Given the description of an element on the screen output the (x, y) to click on. 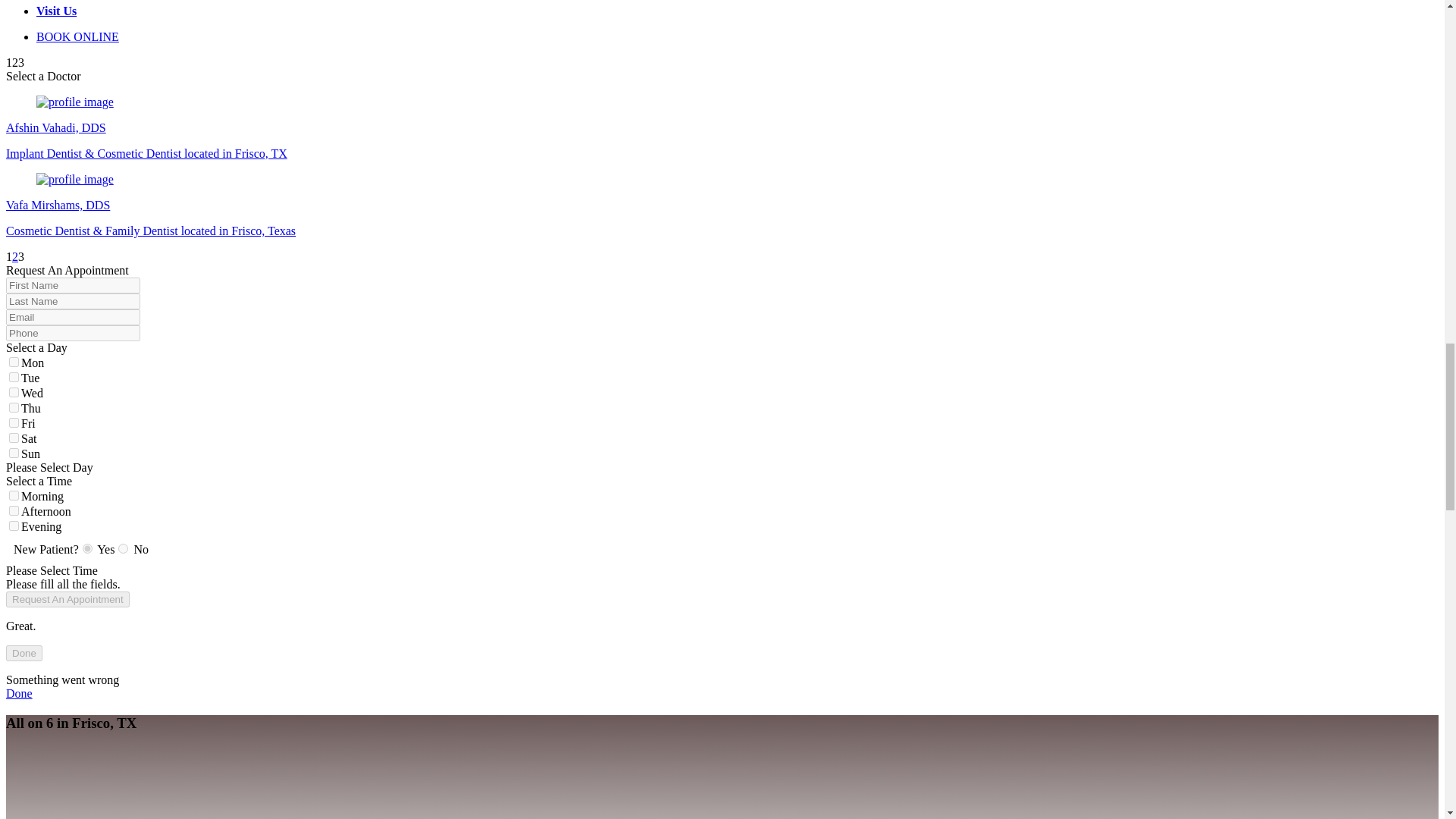
Thursday (13, 407)
profile image (74, 101)
Evening (13, 525)
Sunday (13, 452)
Existing Patient (122, 548)
Monday (13, 361)
New Patient (87, 548)
Morning (13, 495)
Saturday (13, 438)
profile image (74, 179)
Afternoon (13, 510)
Friday (13, 422)
Wednesday (13, 392)
Tuesday (13, 377)
